Given the description of an element on the screen output the (x, y) to click on. 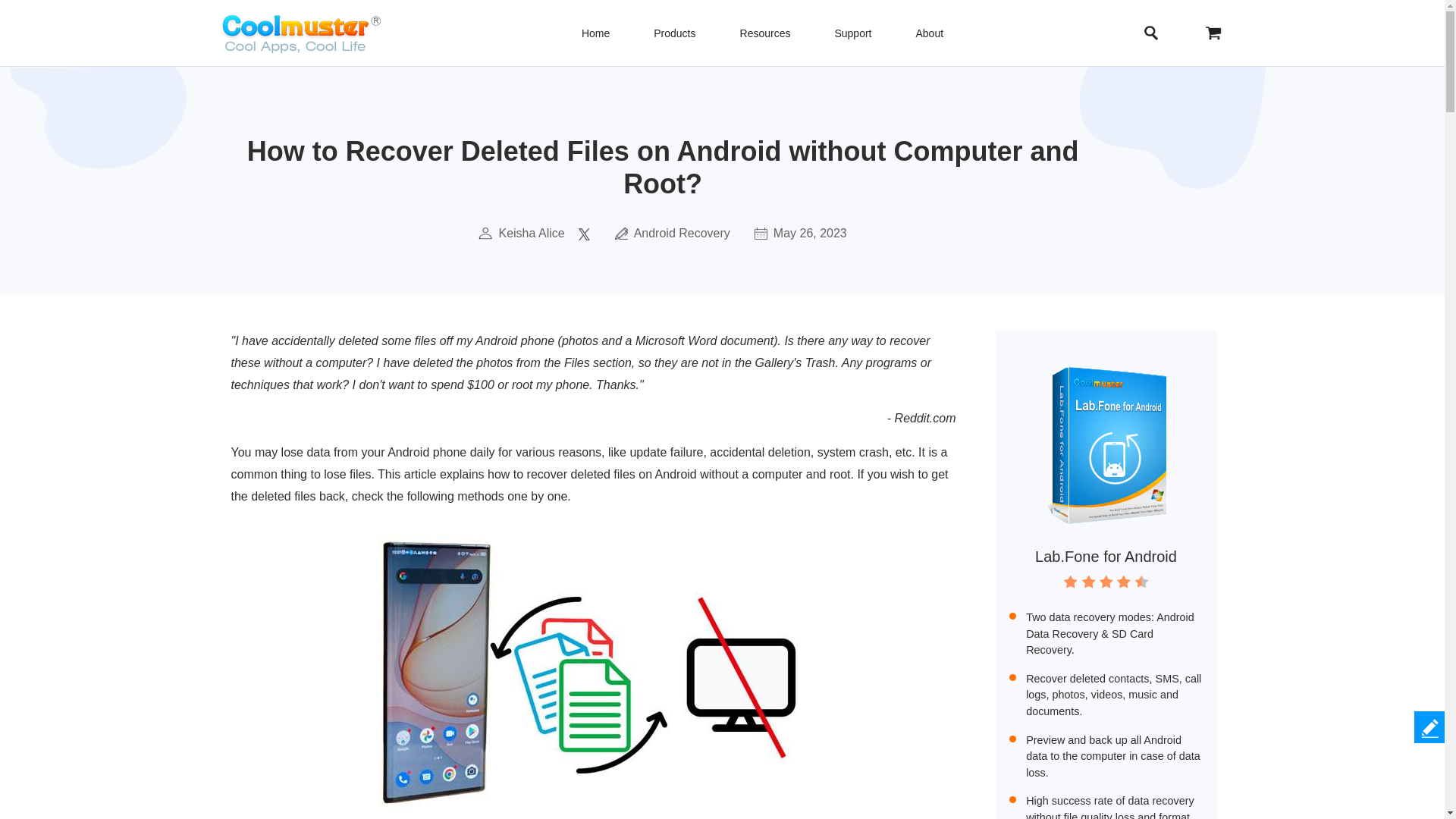
Home (595, 33)
